Given the description of an element on the screen output the (x, y) to click on. 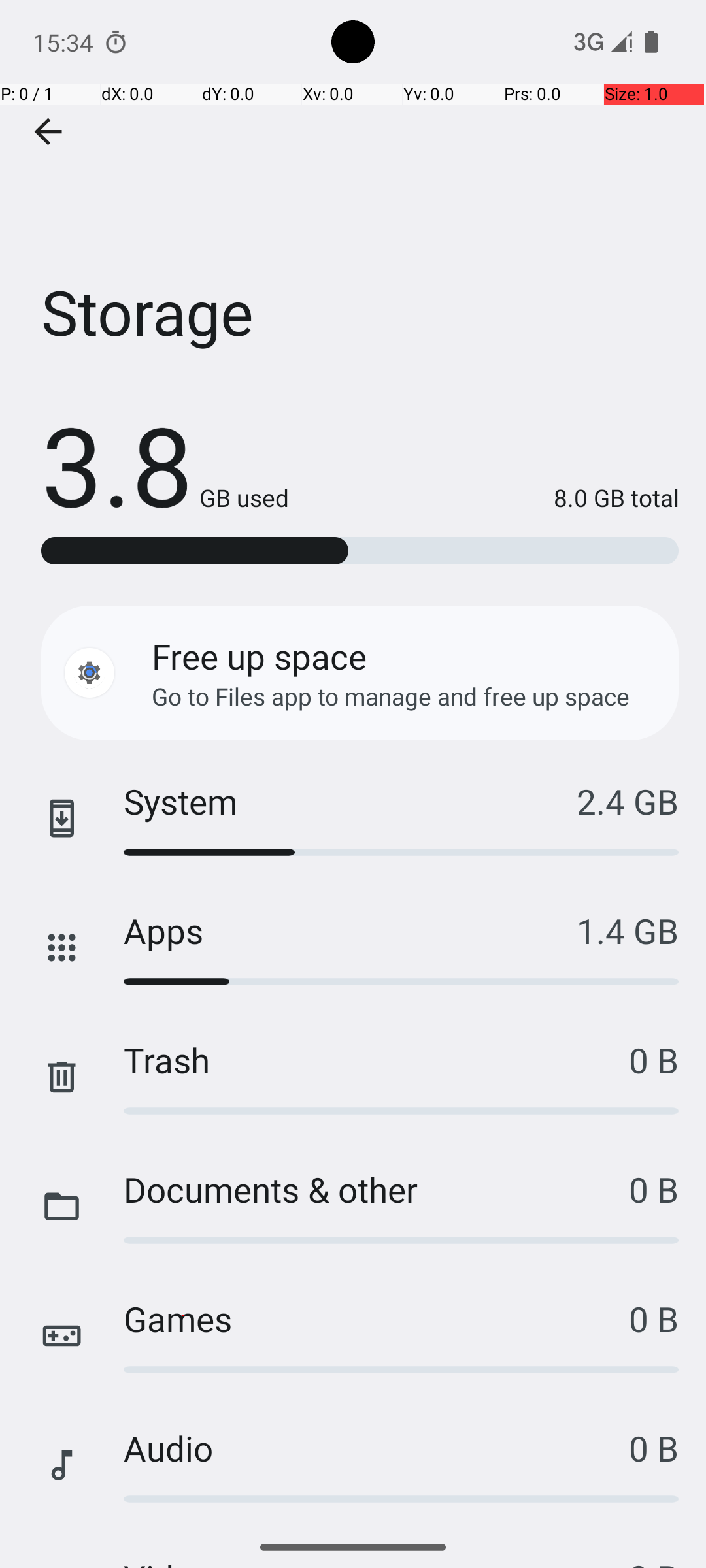
2.4 GB Element type: android.widget.TextView (627, 801)
